Given the description of an element on the screen output the (x, y) to click on. 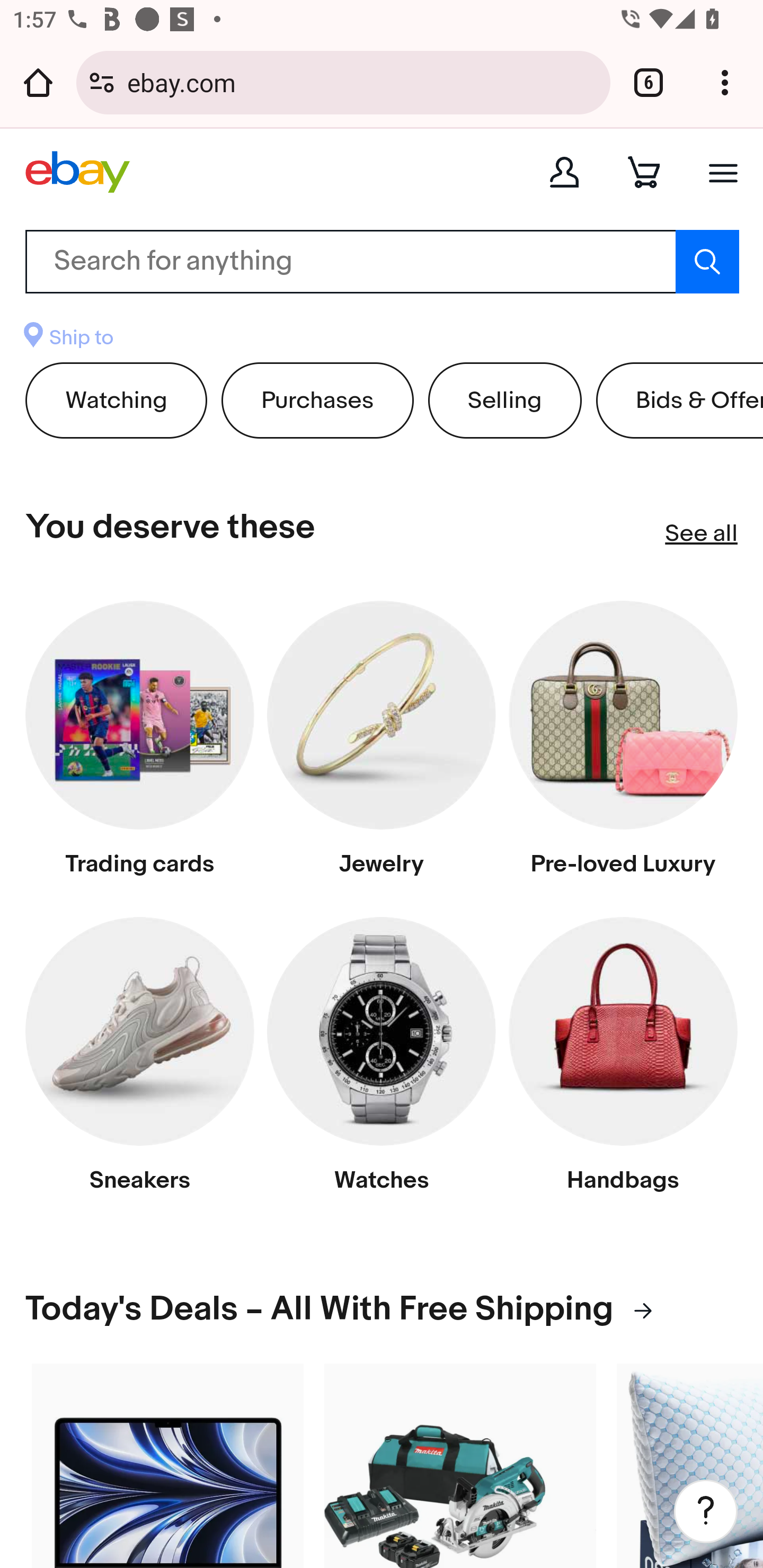
Open the home page (38, 82)
Connection is secure (101, 82)
Switch or close tabs (648, 82)
Customize and control Google Chrome (724, 82)
ebay.com (362, 82)
Open Menu (723, 172)
My eBay (564, 172)
Your shopping cart is empty (643, 172)
eBay Home (77, 171)
Search (707, 261)
Ship to (68, 340)
Watching (116, 400)
Purchases (318, 400)
Selling (504, 400)
Bids & Offers (678, 400)
You deserve these (170, 527)
Trading cards (139, 746)
Jewelry (381, 746)
Pre-loved Luxury (622, 746)
Sneakers (139, 1062)
Watches (381, 1062)
Handbags (622, 1062)
Help (705, 1511)
